Given the description of an element on the screen output the (x, y) to click on. 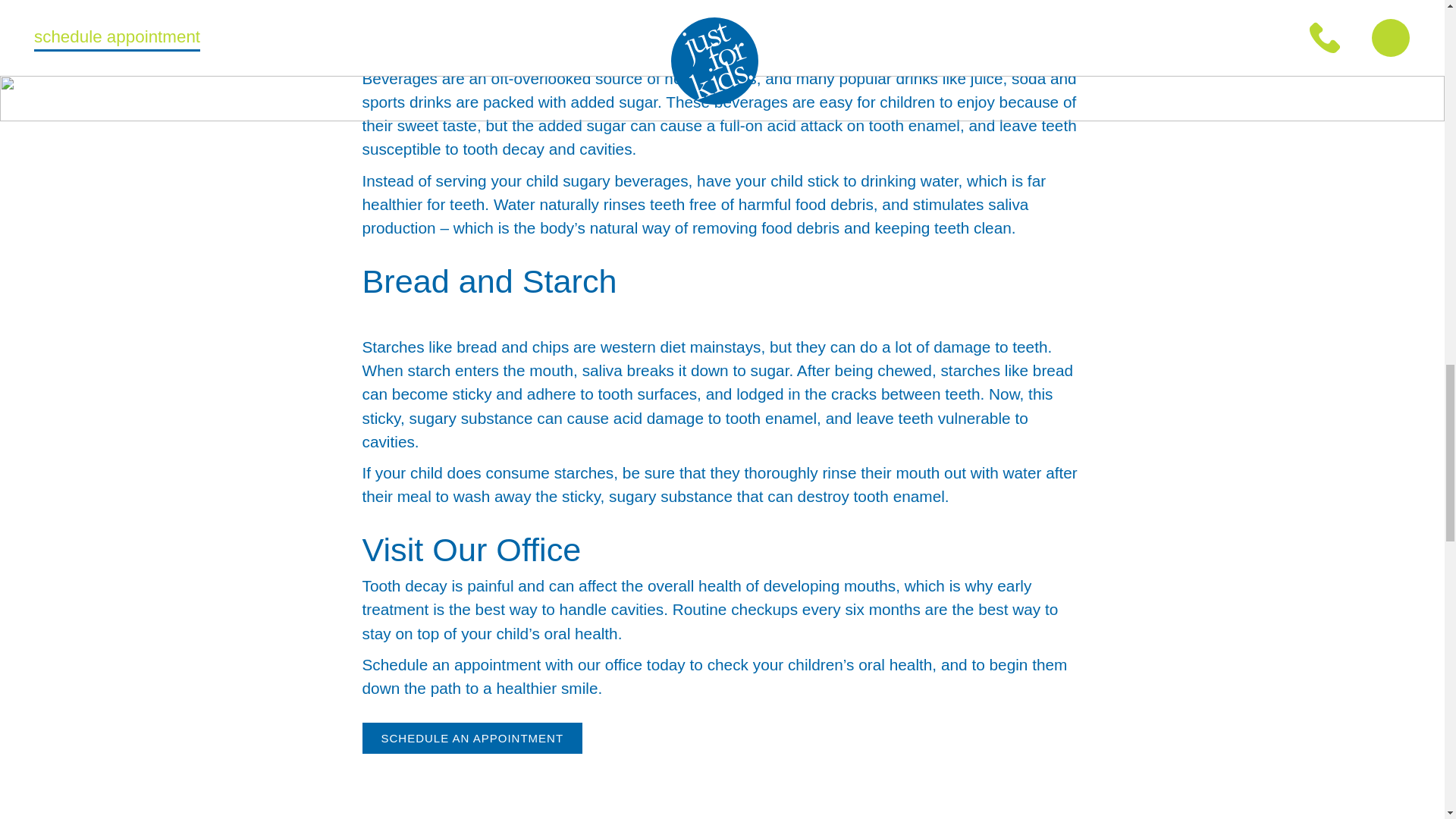
SCHEDULE AN APPOINTMENT (472, 737)
